Given the description of an element on the screen output the (x, y) to click on. 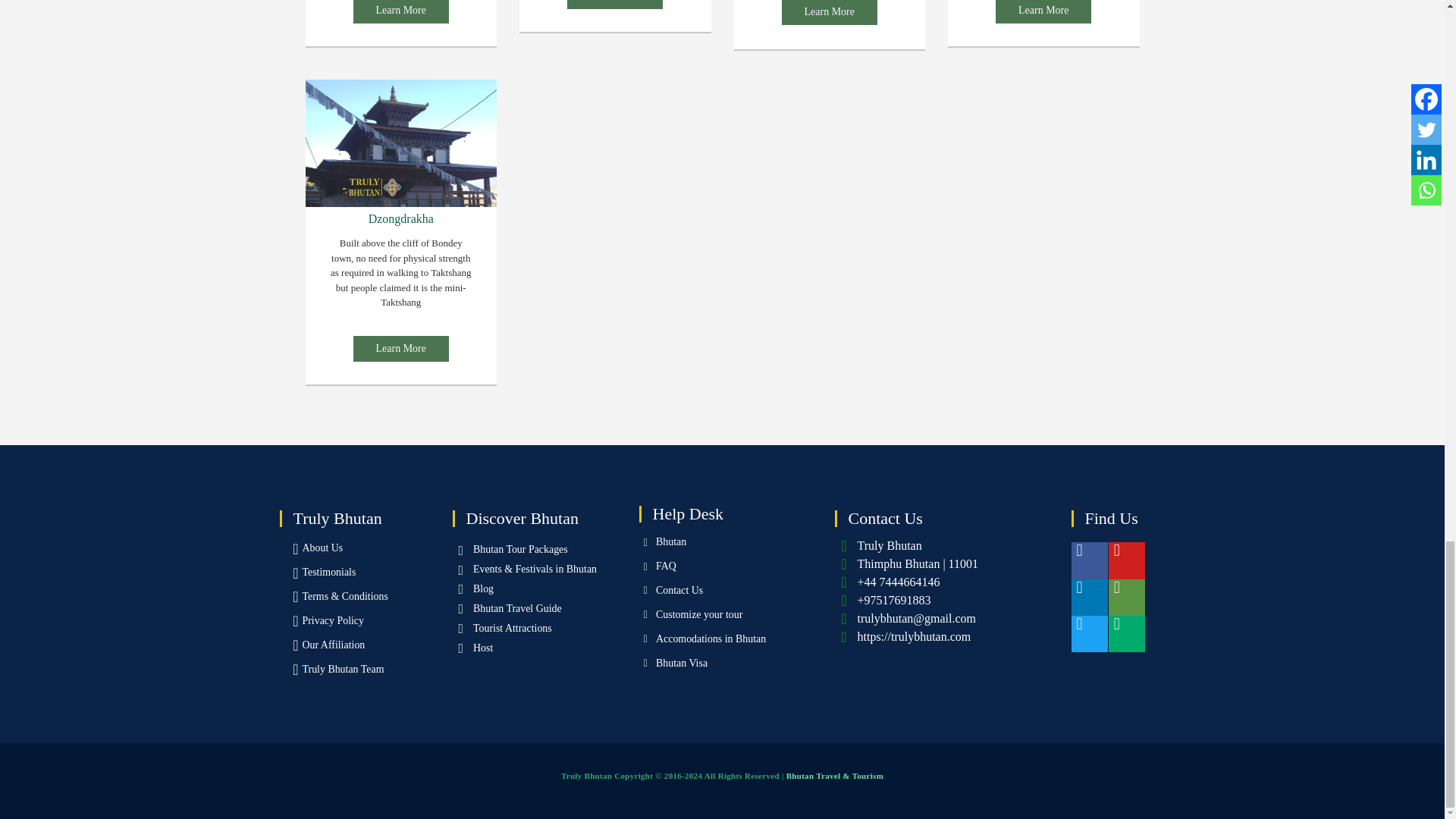
Learn More (614, 4)
Dzongdrakha (400, 143)
Learn More (400, 11)
Learn More (829, 12)
